Given the description of an element on the screen output the (x, y) to click on. 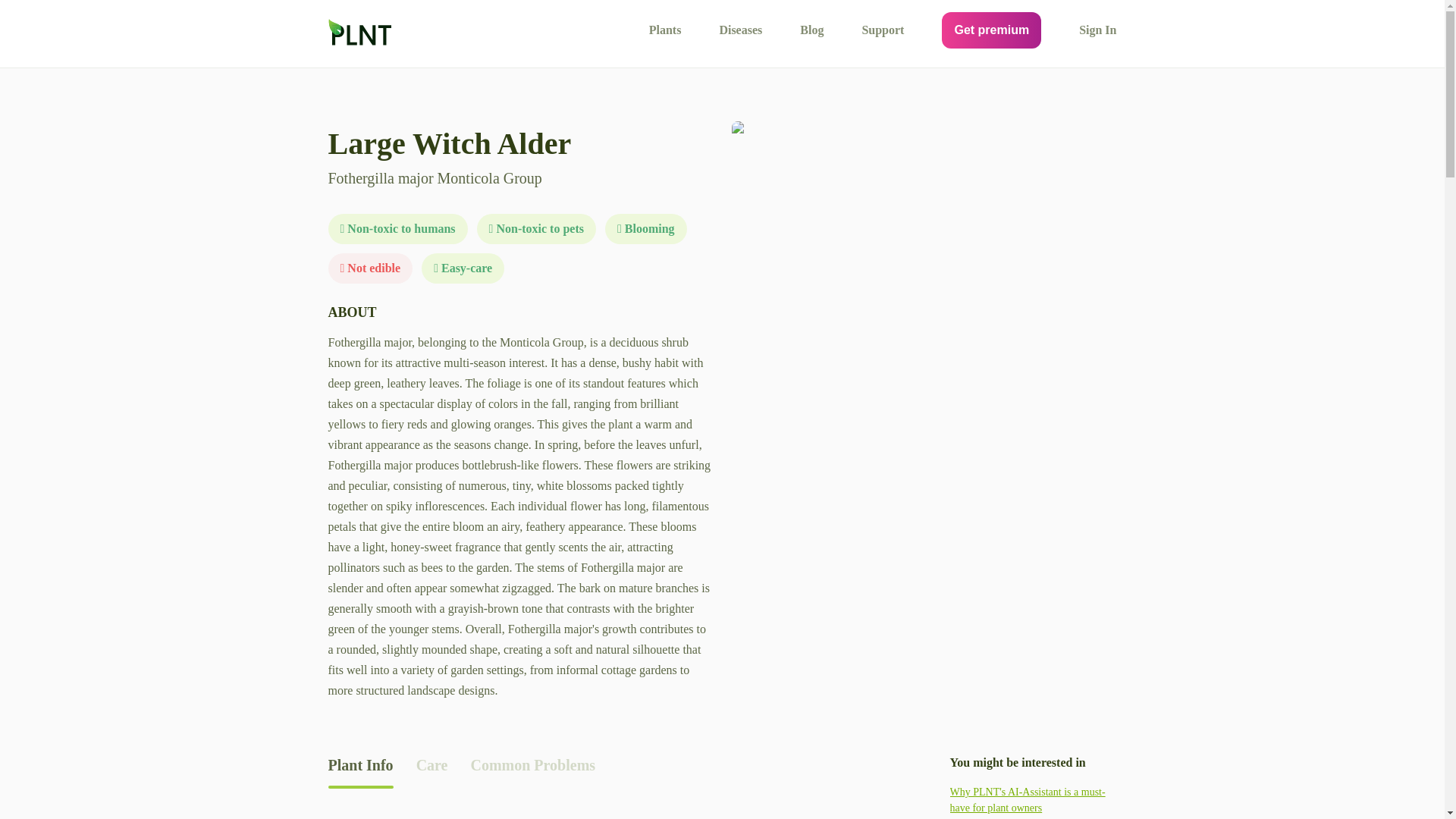
Blog (811, 30)
Plants (665, 30)
Sign In (1097, 30)
Support (882, 30)
Get premium (991, 30)
Diseases (740, 30)
Why PLNT's AI-Assistant is a must-have for plant owners (1032, 799)
